Given the description of an element on the screen output the (x, y) to click on. 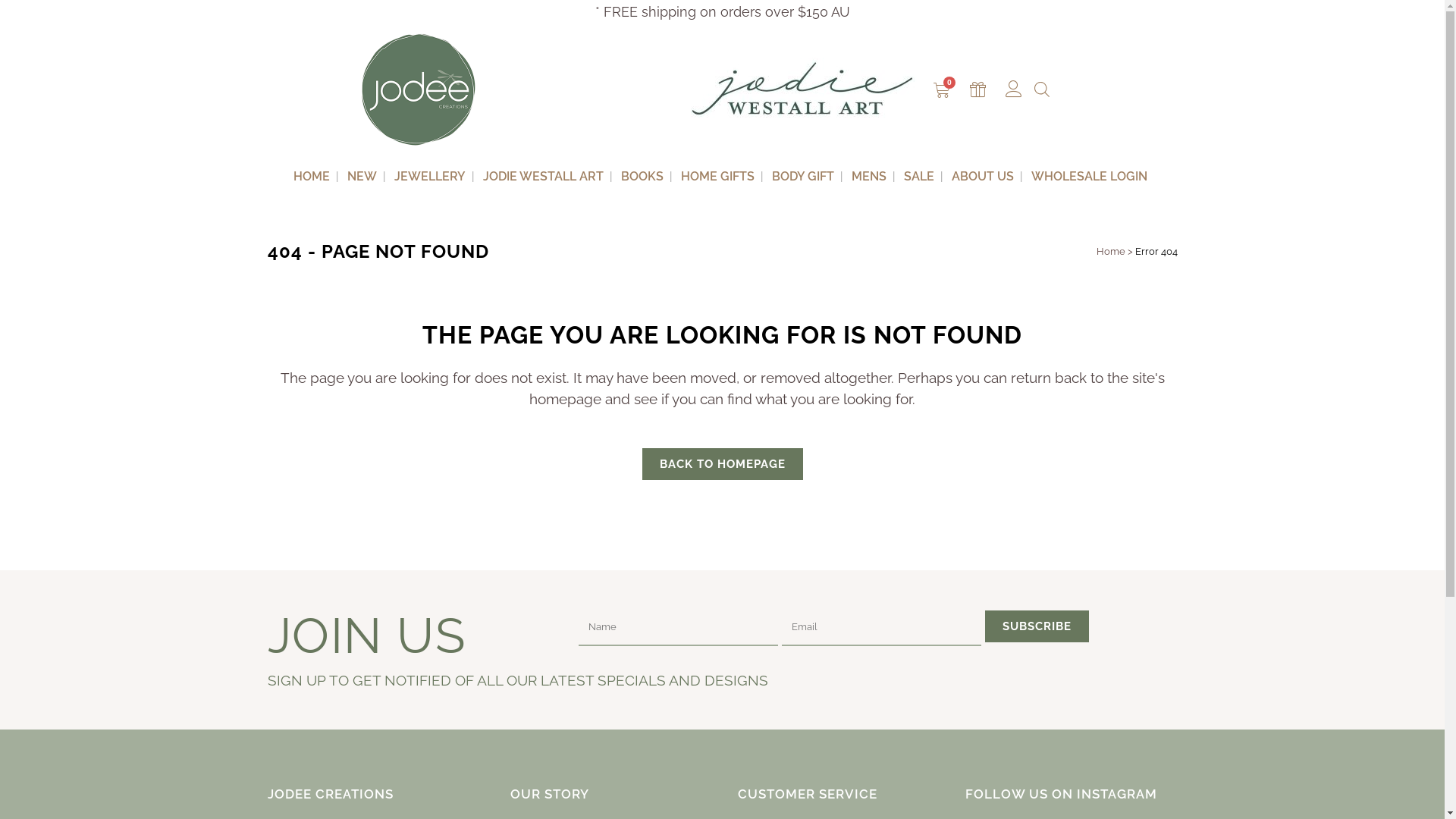
* FREE shipping on orders over $150 AU Element type: text (721, 11)
WHOLESALE LOGIN Element type: text (1088, 176)
Subscribe Element type: text (1036, 626)
0 Element type: text (941, 90)
BOOKS Element type: text (642, 176)
Home Element type: text (1110, 251)
JODIE WESTALL ART Element type: text (543, 176)
ABOUT US Element type: text (982, 176)
BODY GIFT Element type: text (802, 176)
SALE Element type: text (918, 176)
HOME GIFTS Element type: text (717, 176)
JEWELLERY Element type: text (429, 176)
MENS Element type: text (869, 176)
NEW Element type: text (361, 176)
BACK TO HOMEPAGE Element type: text (721, 464)
HOME Element type: text (311, 176)
